Given the description of an element on the screen output the (x, y) to click on. 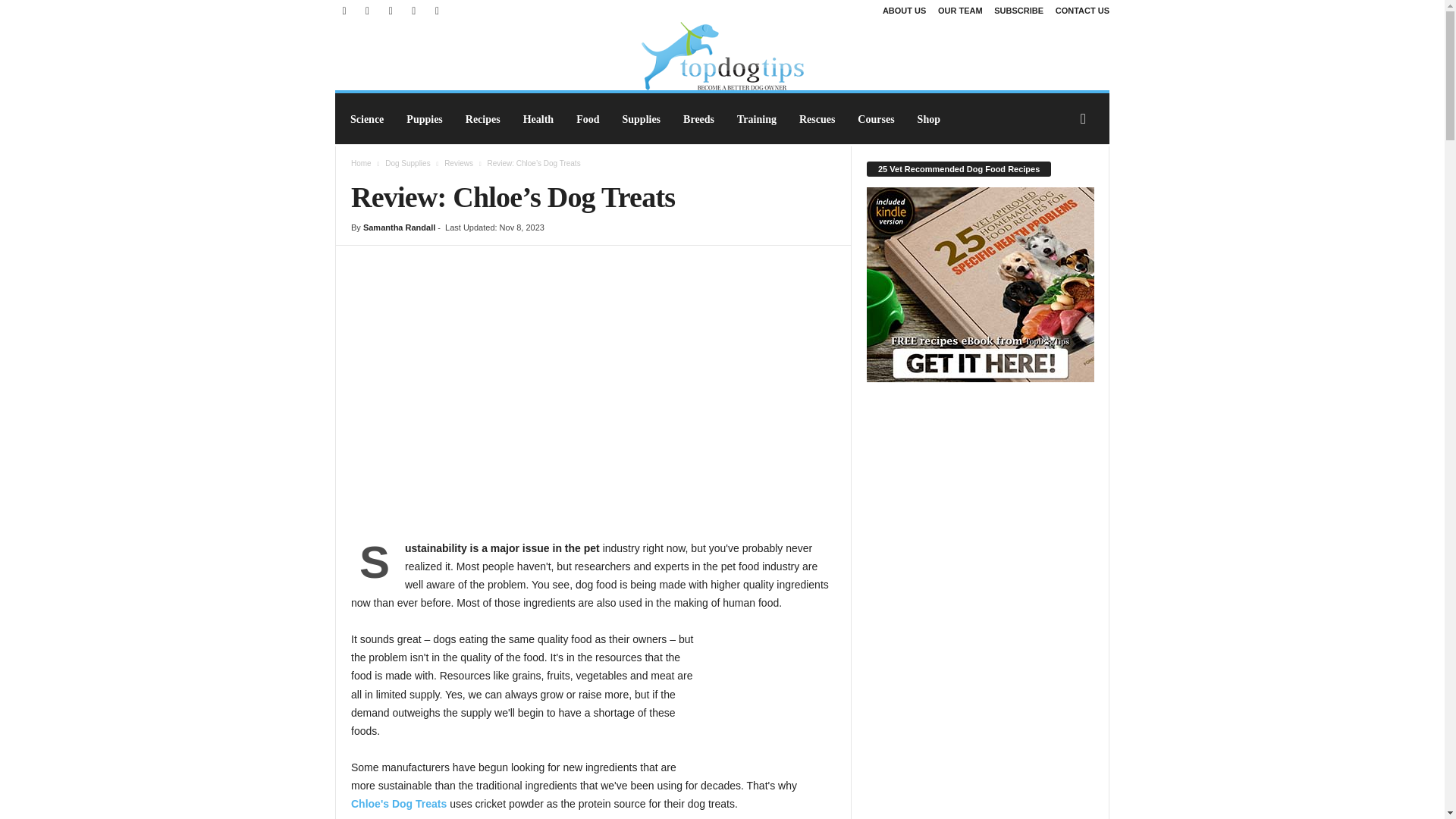
About Top Dog Tips (904, 10)
